Given the description of an element on the screen output the (x, y) to click on. 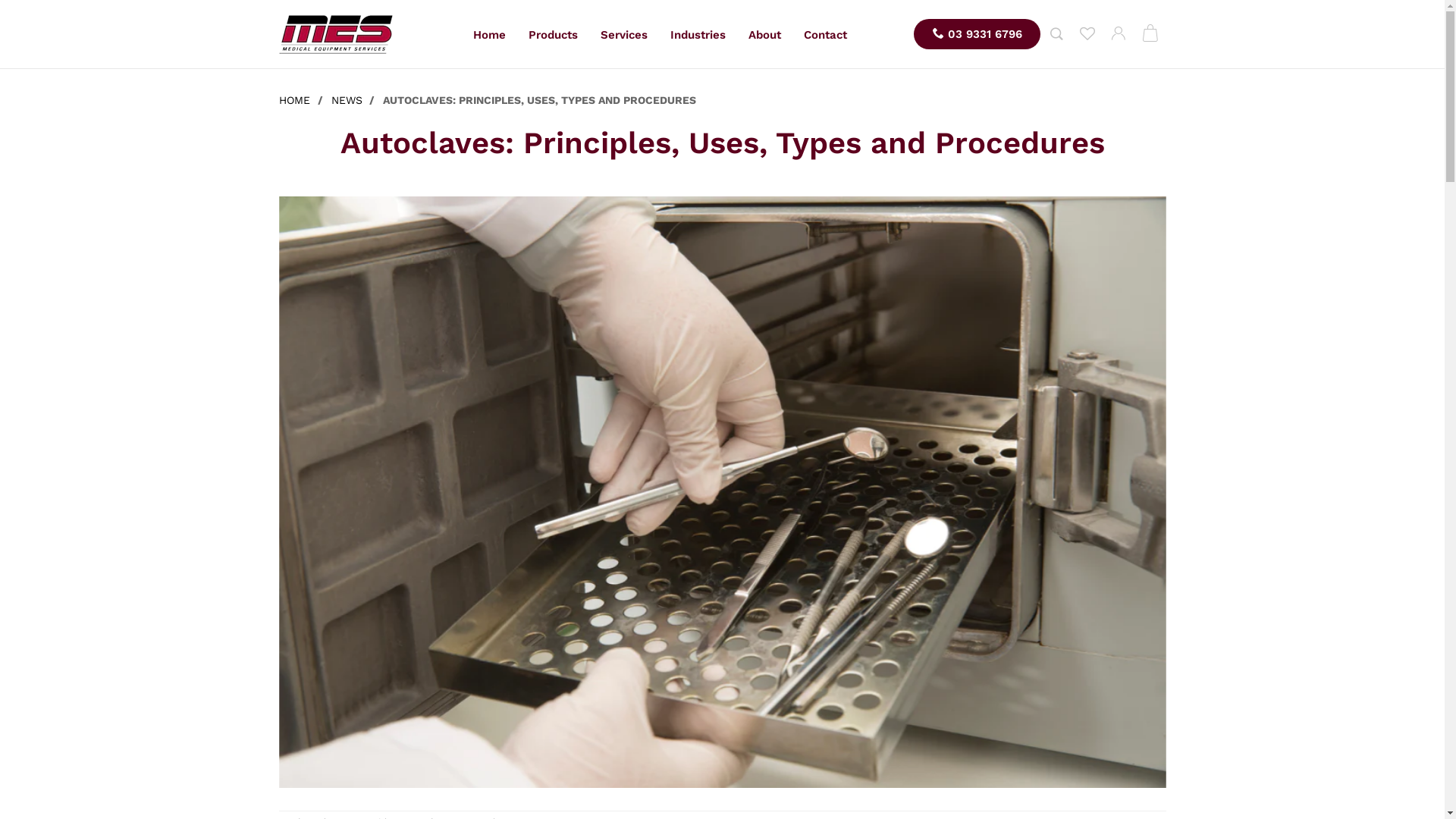
Products Element type: text (553, 34)
Home Element type: text (489, 34)
About Element type: text (764, 34)
Services Element type: text (623, 34)
Industries Element type: text (697, 34)
HOME Element type: text (296, 100)
My Account Element type: hover (1117, 34)
NEWS Element type: text (346, 100)
MES Element type: hover (335, 34)
03 9331 6796 Element type: text (976, 33)
Contact Element type: text (825, 34)
